Given the description of an element on the screen output the (x, y) to click on. 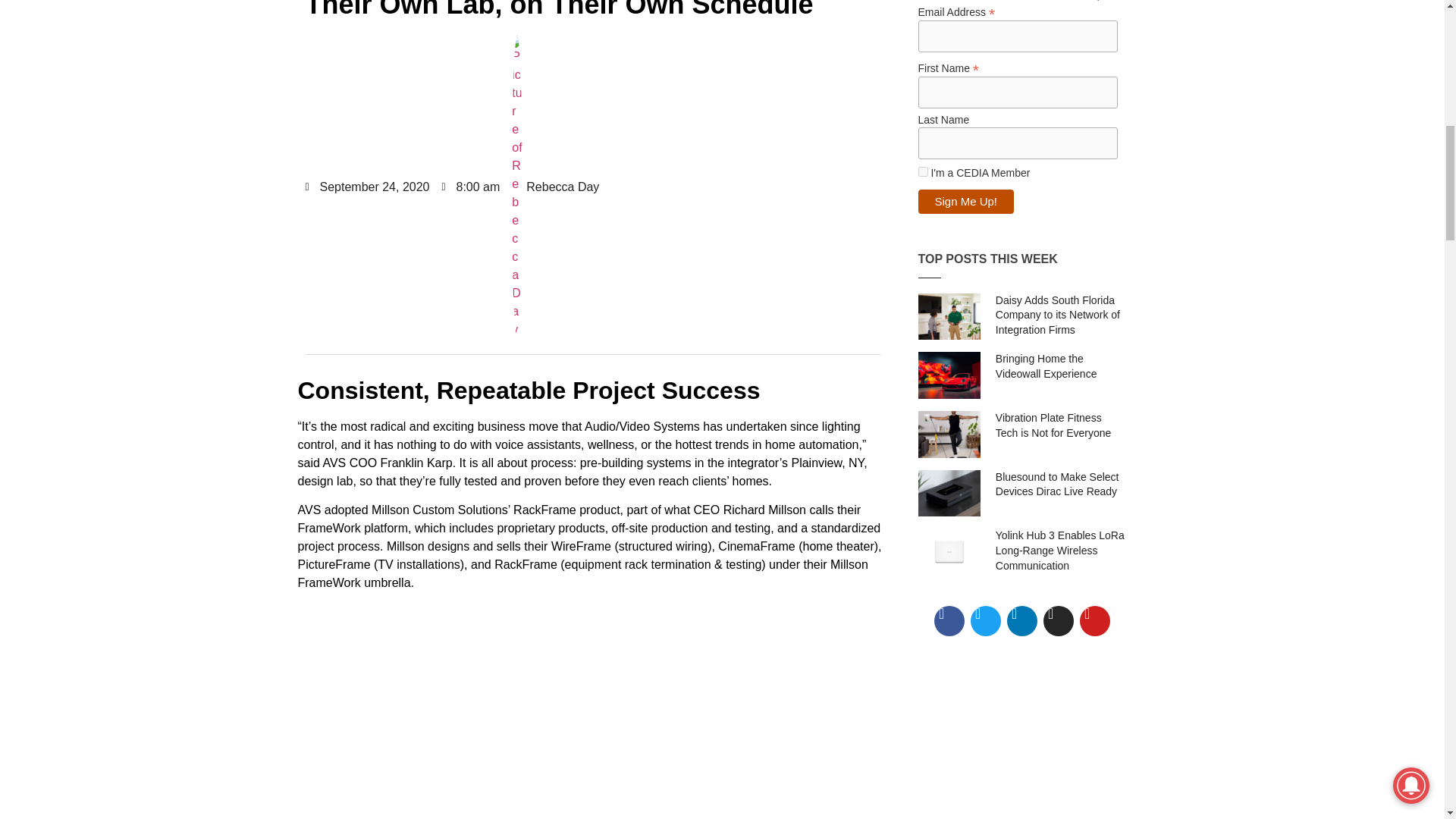
e11e2e2e8f (922, 171)
Sign Me Up! (965, 201)
September 24, 2020 (366, 187)
